Given the description of an element on the screen output the (x, y) to click on. 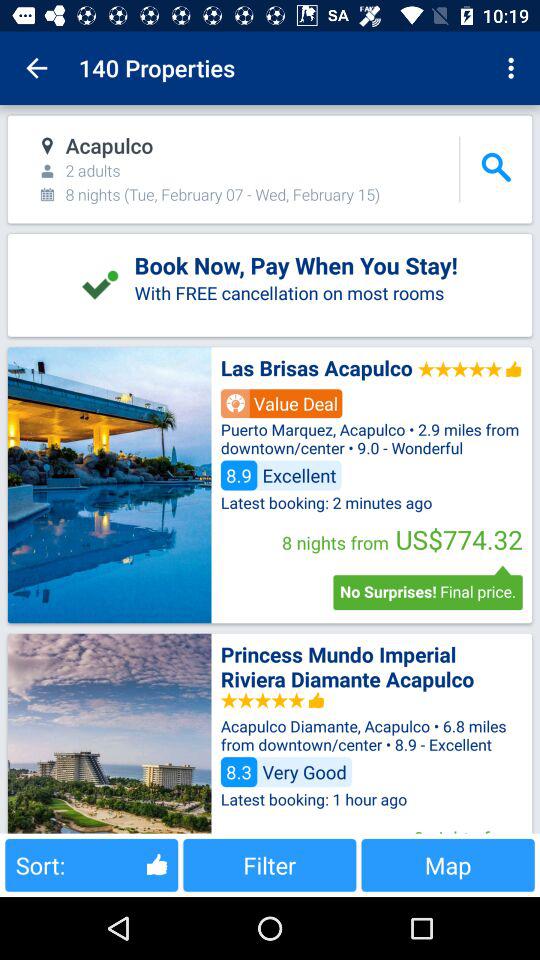
view image (109, 485)
